Given the description of an element on the screen output the (x, y) to click on. 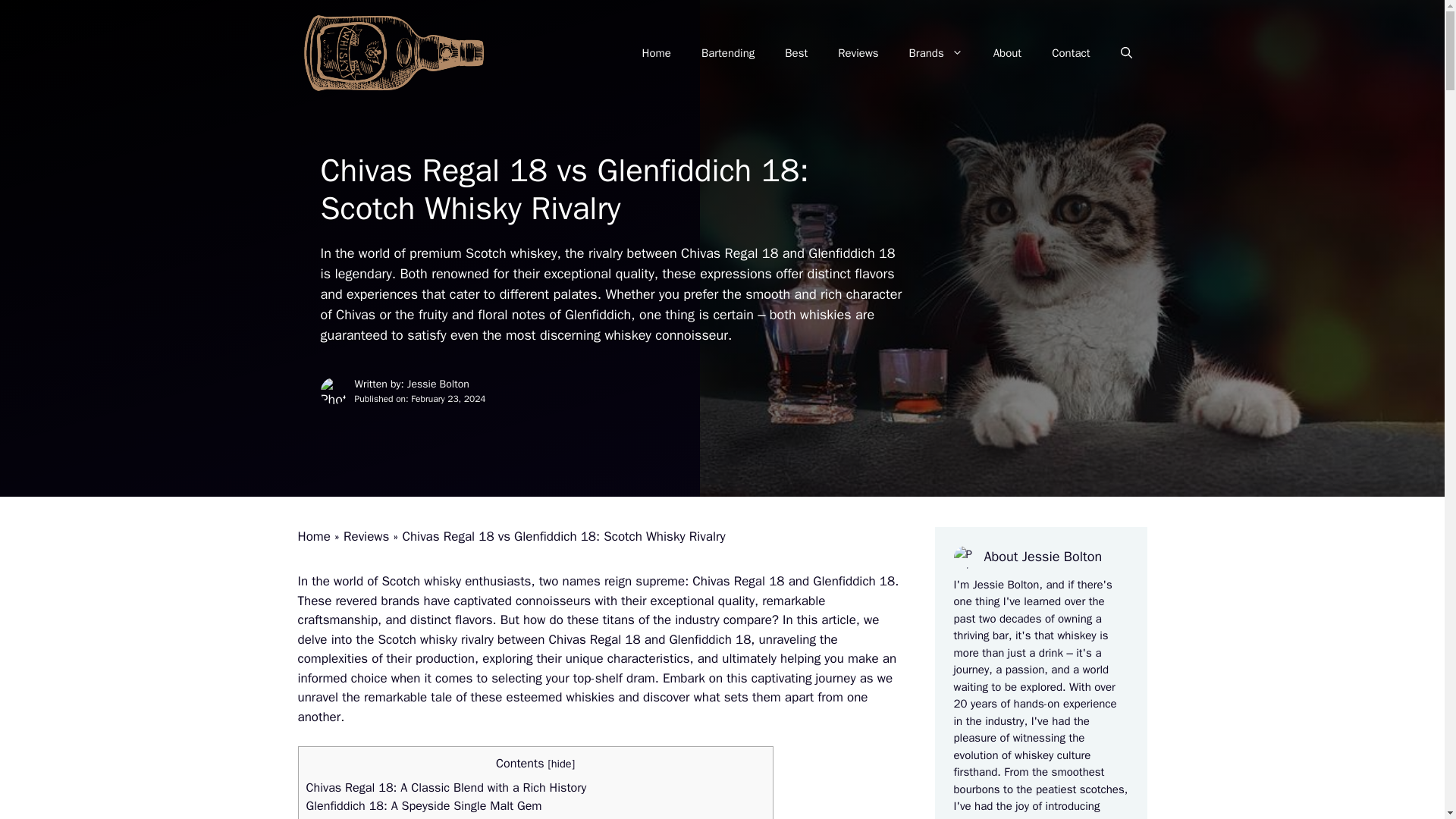
Reviews (857, 53)
Home (313, 536)
About (1007, 53)
Reviews (365, 536)
Bartending (727, 53)
Contact (1070, 53)
Home (656, 53)
Brands (935, 53)
Best (796, 53)
hide (561, 763)
